Given the description of an element on the screen output the (x, y) to click on. 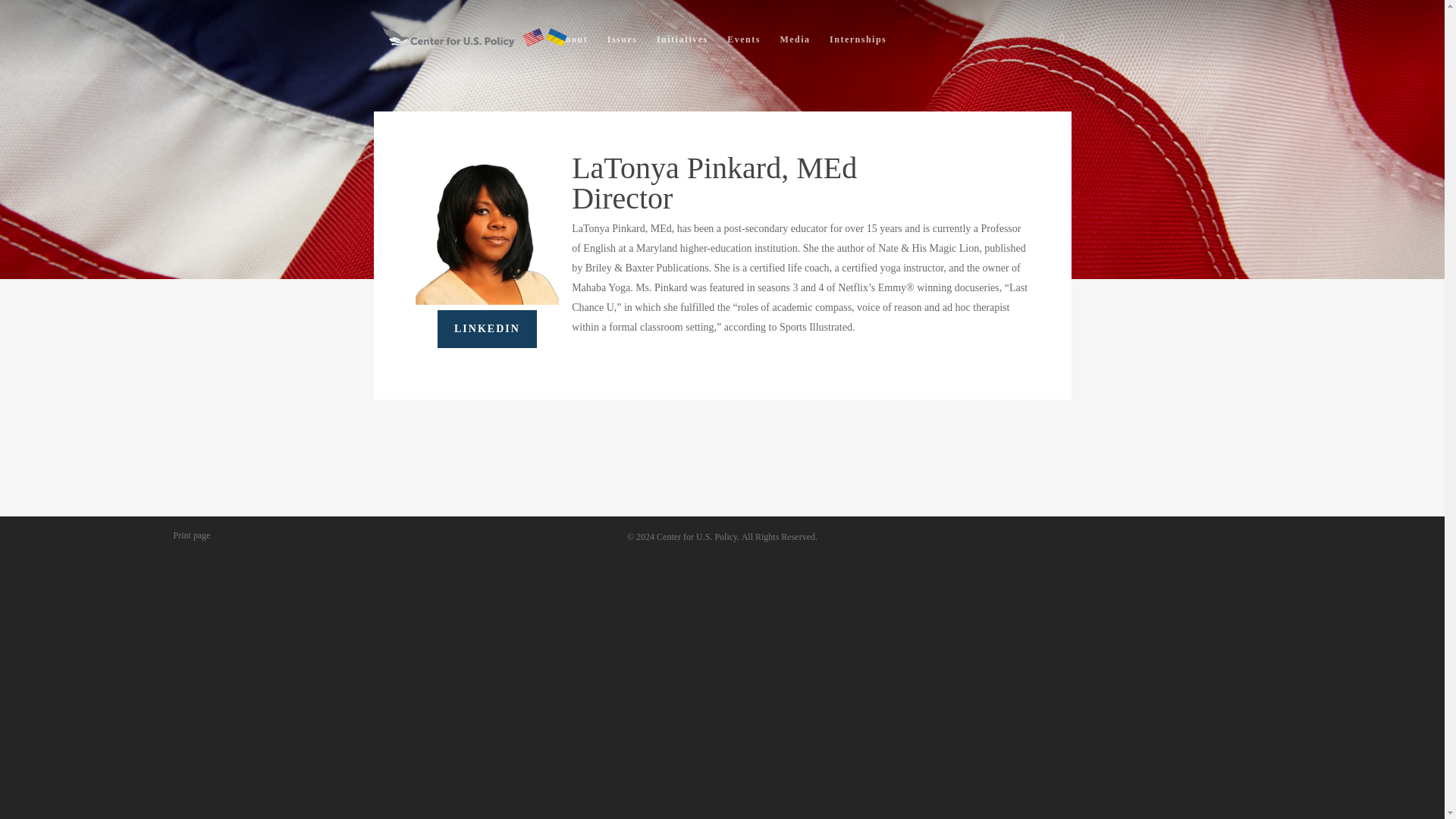
Internships (857, 42)
Initiatives (682, 42)
Issues (622, 42)
About (572, 42)
Print page (192, 534)
Media (793, 42)
Events (743, 42)
LINKEDIN (487, 329)
